Given the description of an element on the screen output the (x, y) to click on. 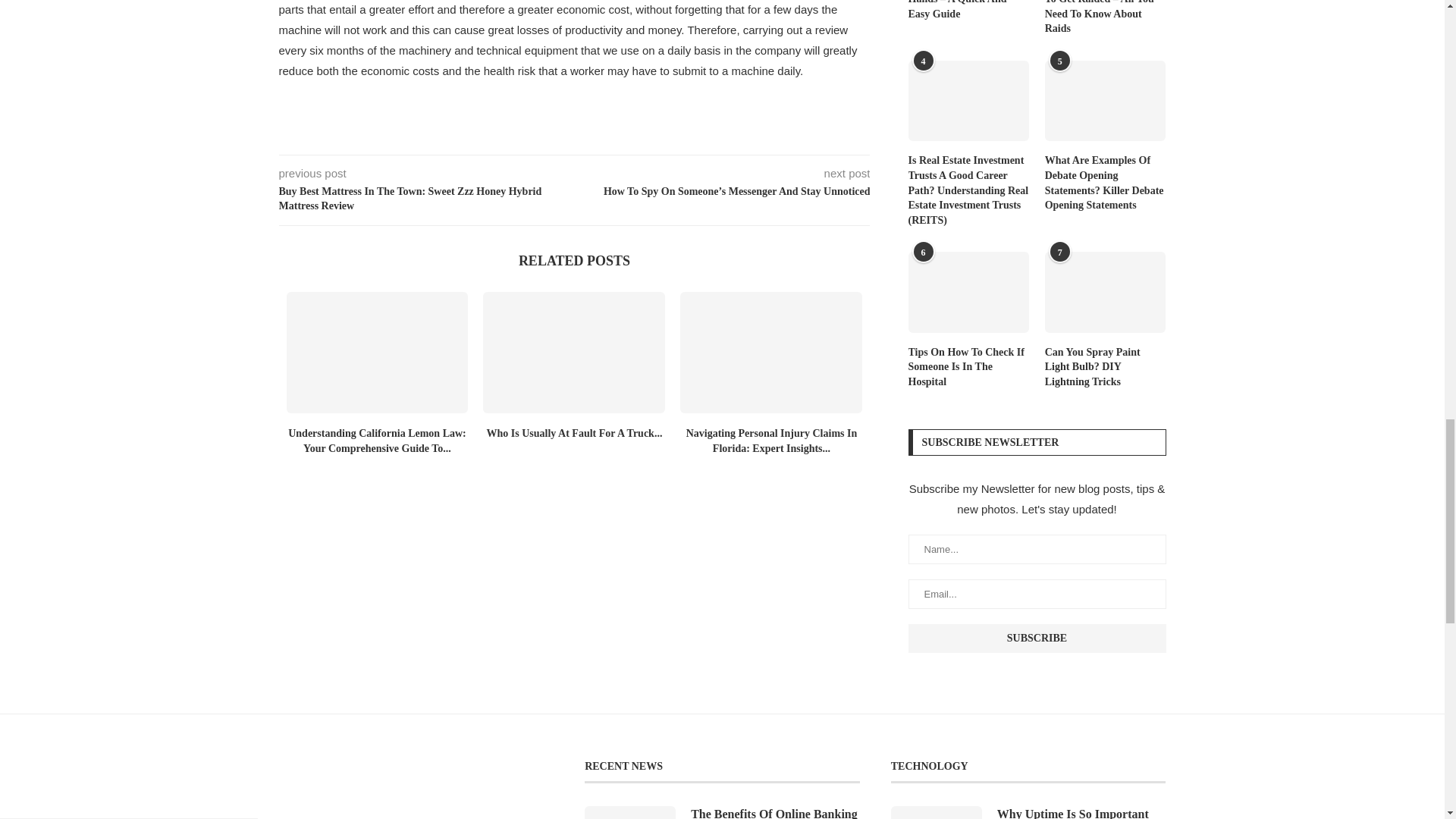
Subscribe (1037, 638)
Who Is Usually At Fault For A Truck... (574, 432)
Who Is Usually At Fault For A Truck Accident? (574, 352)
